Given the description of an element on the screen output the (x, y) to click on. 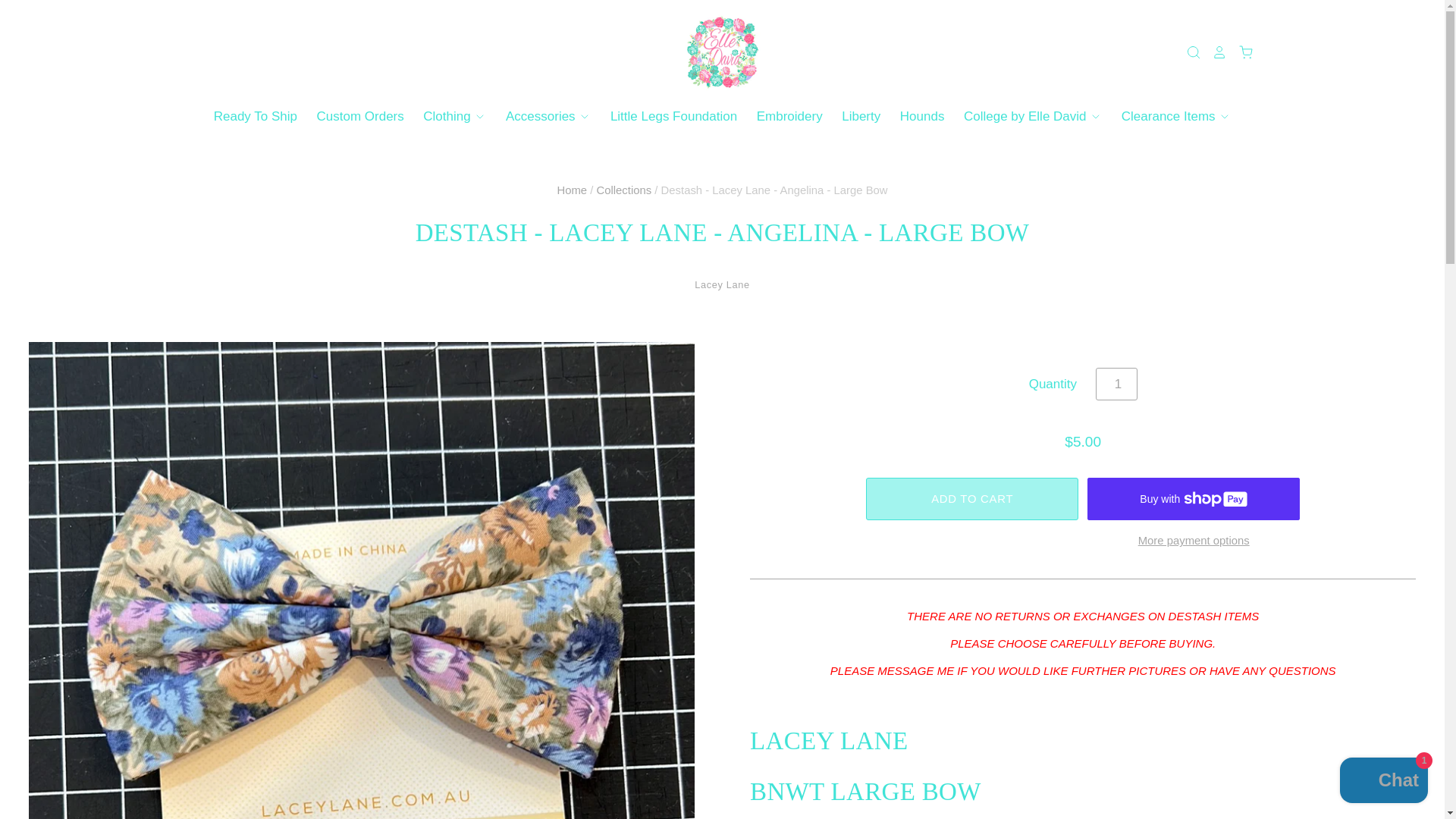
Ready To Ship (255, 116)
Clothing (445, 116)
1 (1116, 383)
Shopify online store chat (1383, 781)
Add to cart (972, 498)
Custom Orders (351, 116)
